Given the description of an element on the screen output the (x, y) to click on. 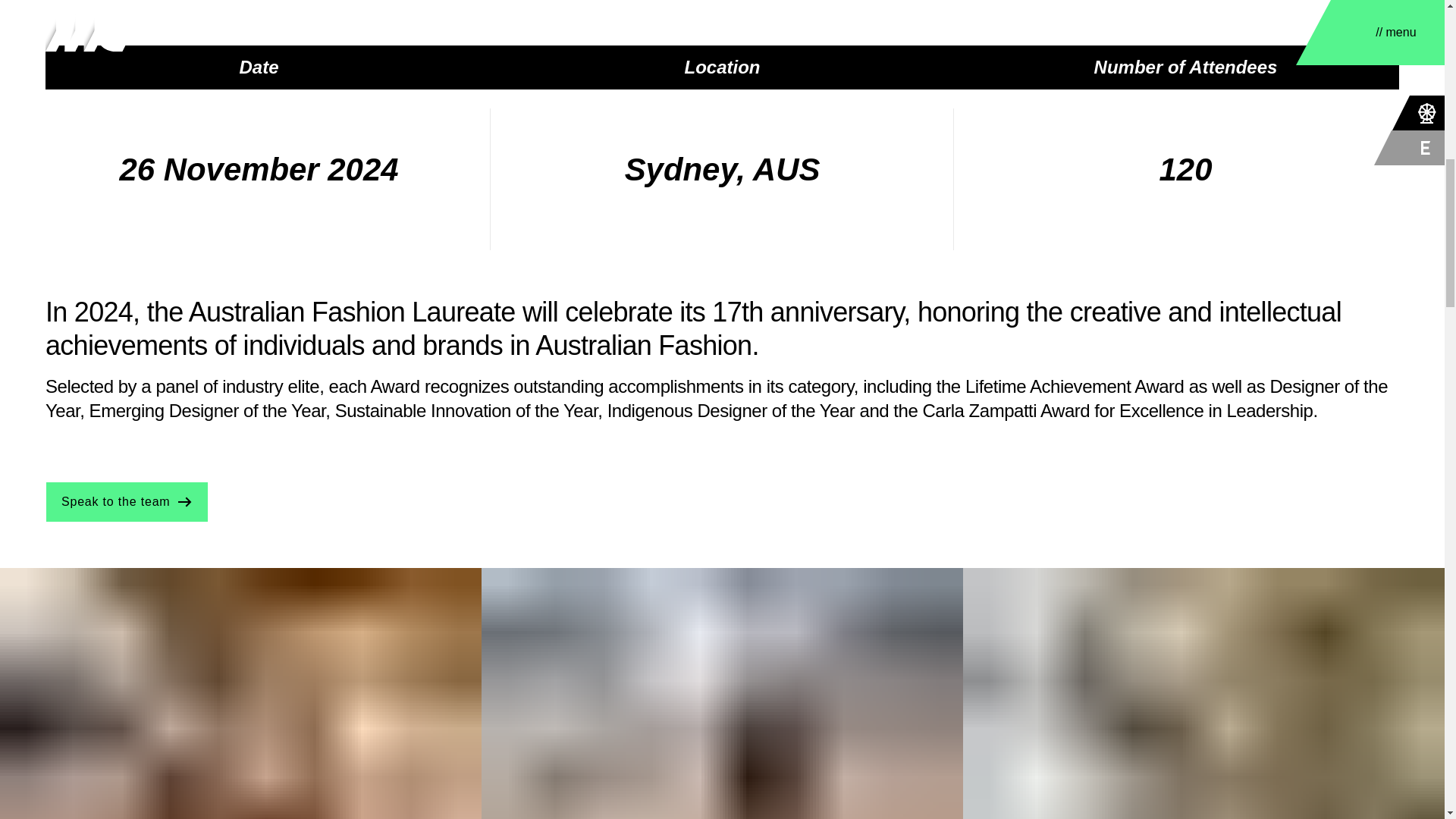
Speak to the team (126, 501)
